Given the description of an element on the screen output the (x, y) to click on. 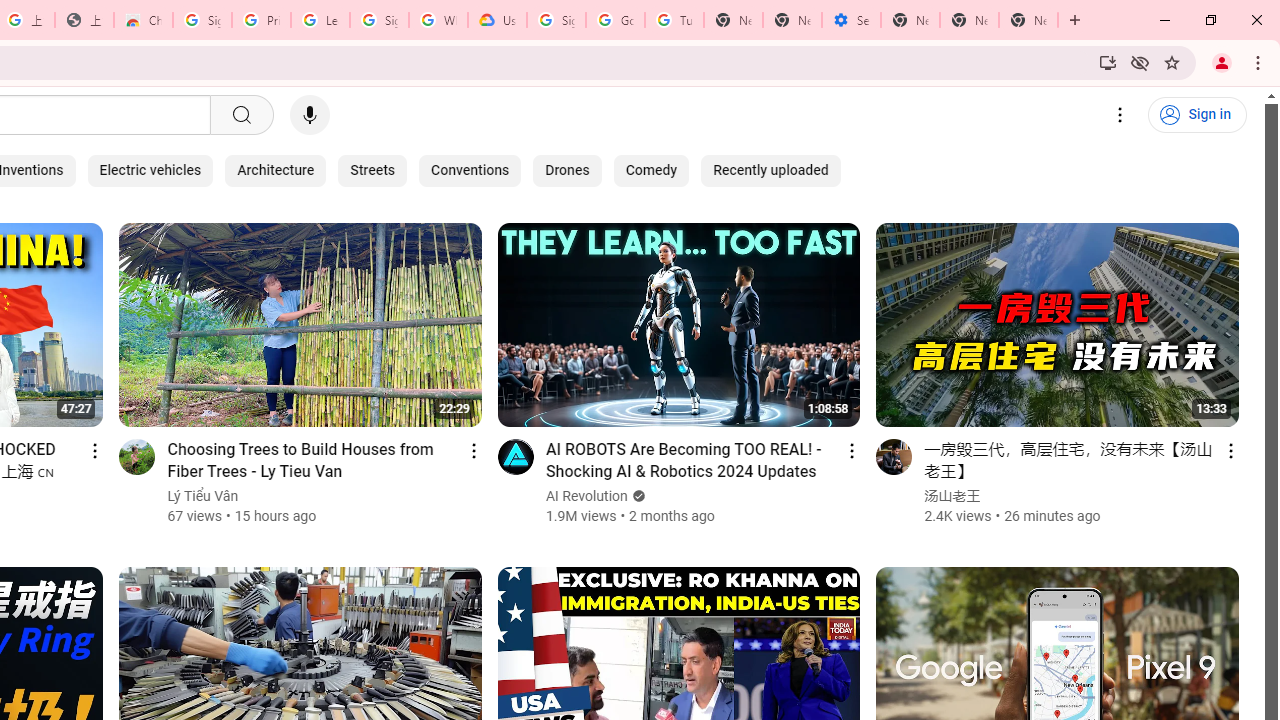
Comedy (651, 170)
Drones (566, 170)
Sign in - Google Accounts (201, 20)
Conventions (470, 170)
Streets (372, 170)
Chrome Web Store (142, 20)
Sign in - Google Accounts (556, 20)
Search with your voice (309, 115)
